Given the description of an element on the screen output the (x, y) to click on. 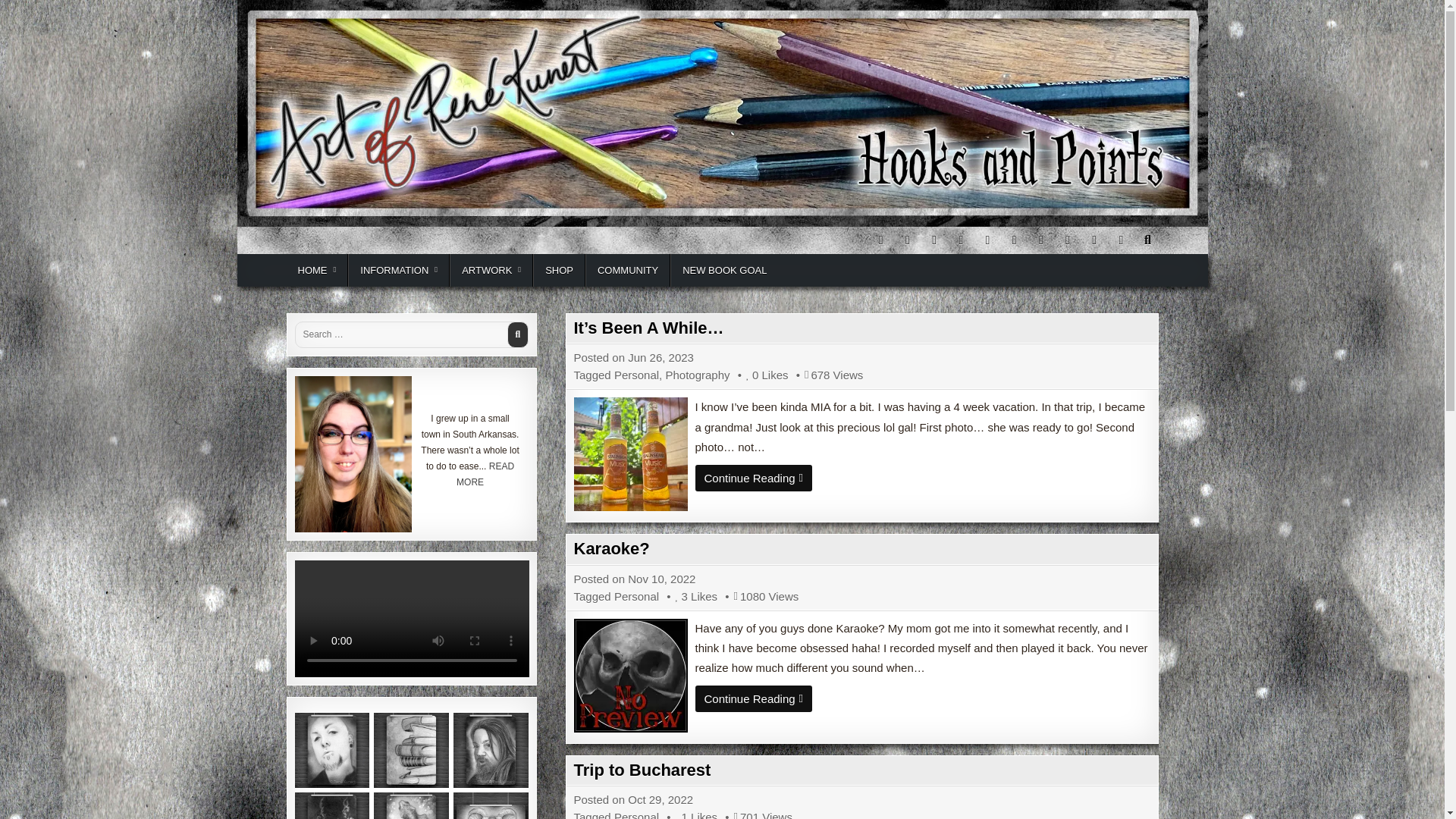
678 Views (817, 374)
Art of Rene Kunert (367, 239)
HOME (317, 269)
COMMUNITY (627, 269)
INFORMATION (398, 269)
Like this (751, 374)
SHOP (558, 269)
ARTWORK (490, 269)
